Given the description of an element on the screen output the (x, y) to click on. 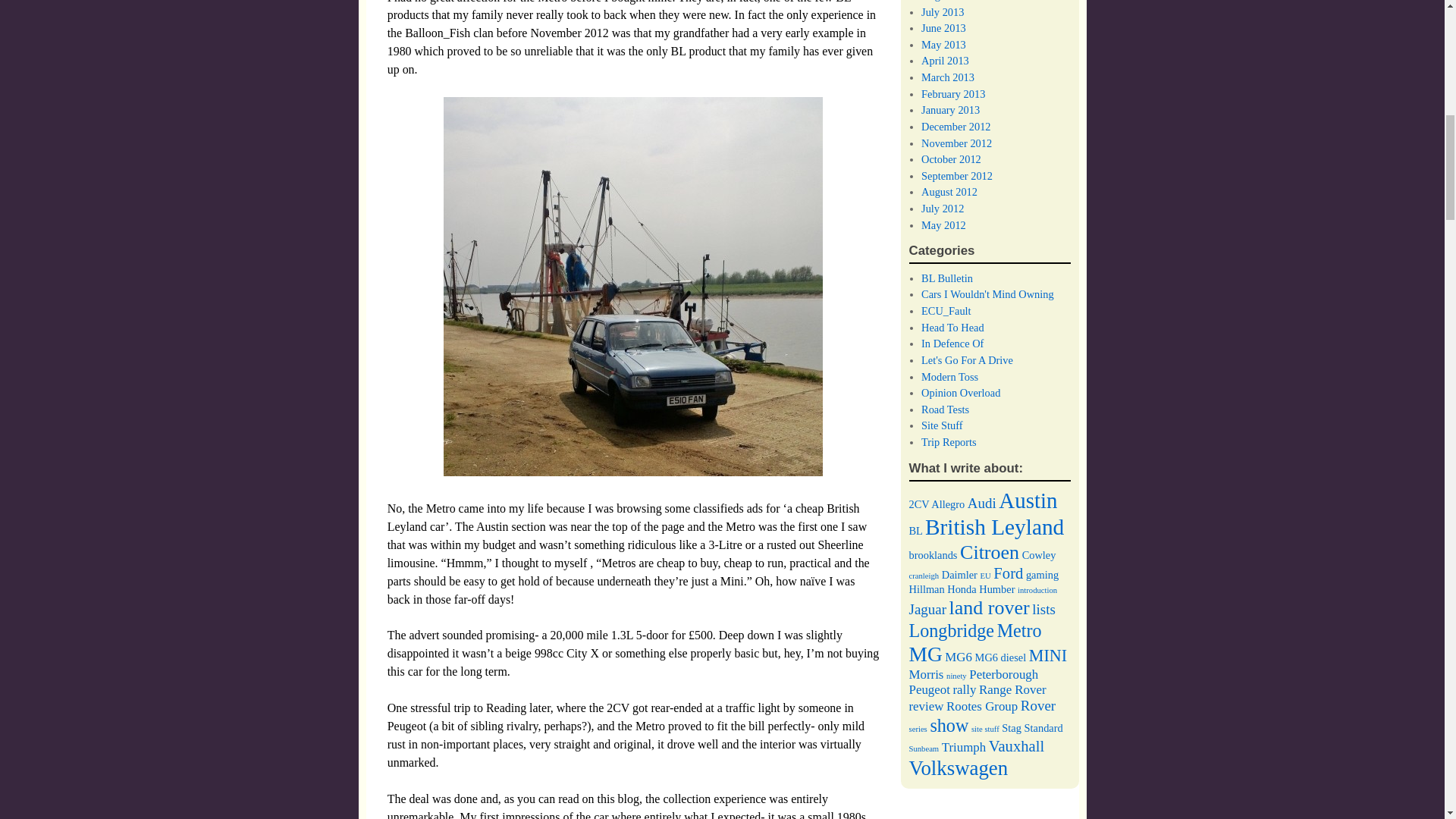
2 topics (947, 503)
2 topics (914, 530)
2 topics (932, 554)
2 topics (918, 503)
15 topics (994, 526)
14 topics (1027, 500)
4 topics (981, 503)
